Given the description of an element on the screen output the (x, y) to click on. 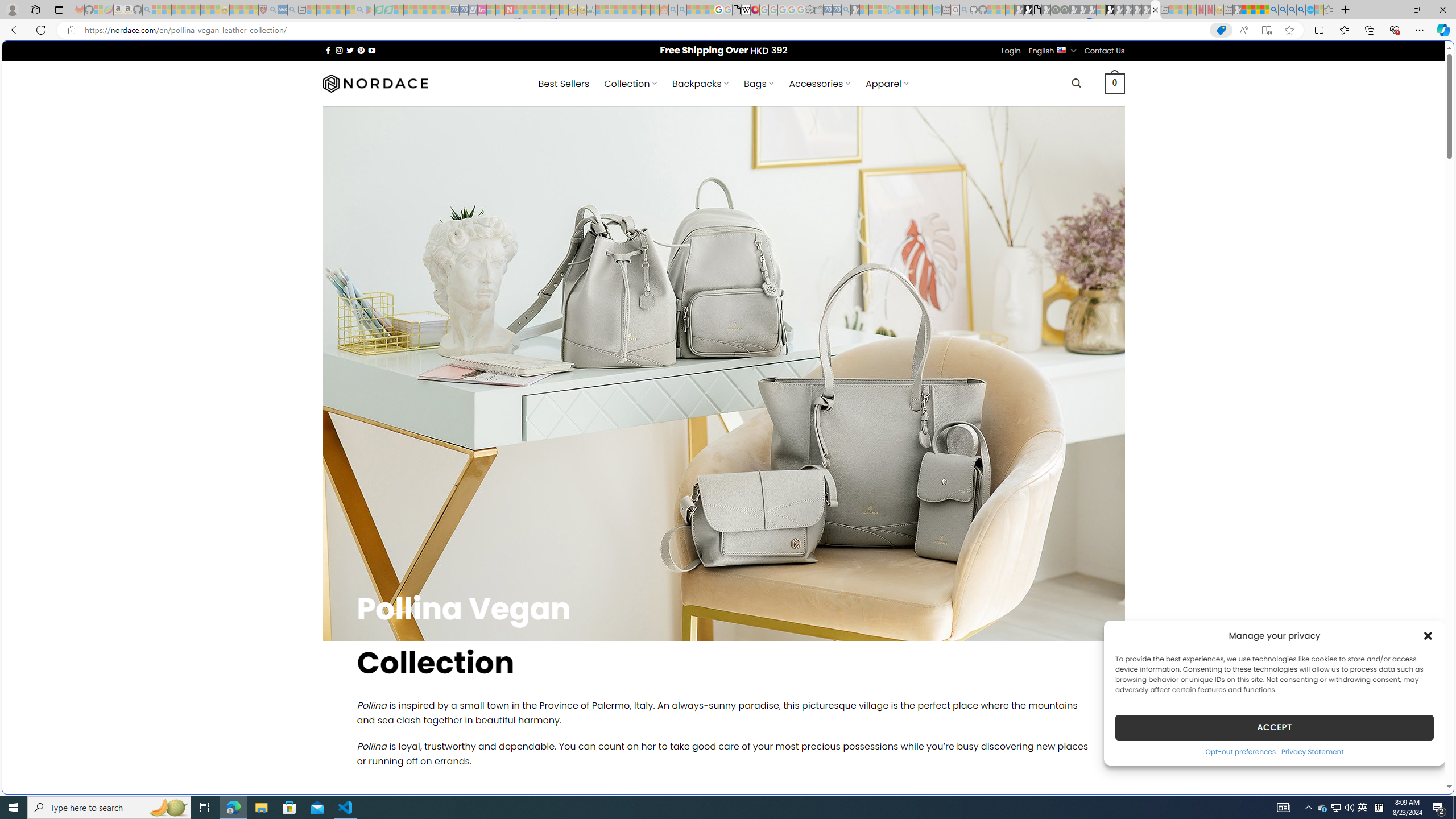
Search or enter web address (922, 108)
This site has coupons! Shopping in Microsoft Edge, 4 (1220, 29)
MSN - Sleeping (1236, 9)
 Best Sellers (563, 83)
Wallet - Sleeping (818, 9)
